Given the description of an element on the screen output the (x, y) to click on. 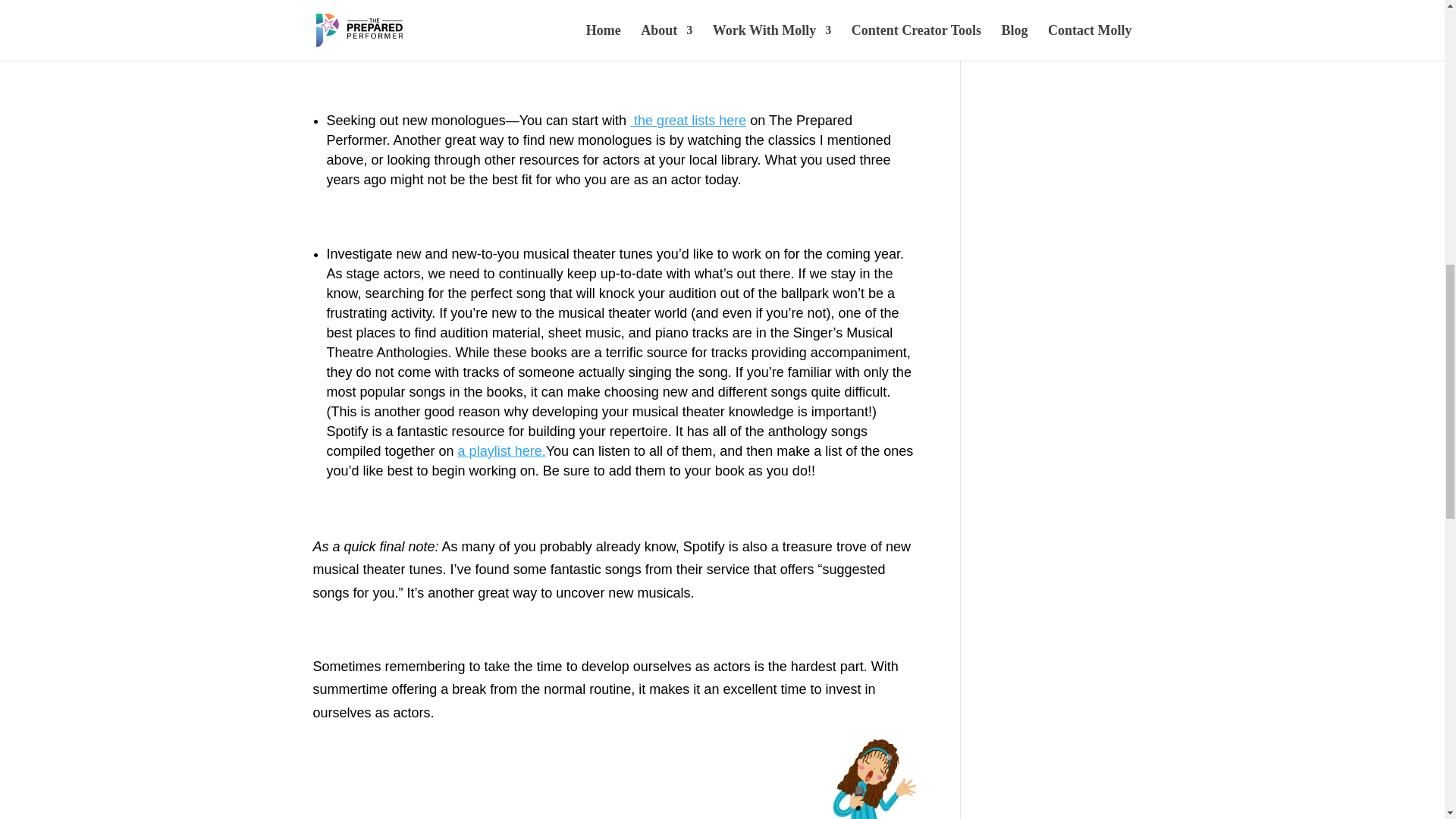
the great lists here (687, 120)
a playlist here. (502, 450)
DAG photography (639, 46)
